Given the description of an element on the screen output the (x, y) to click on. 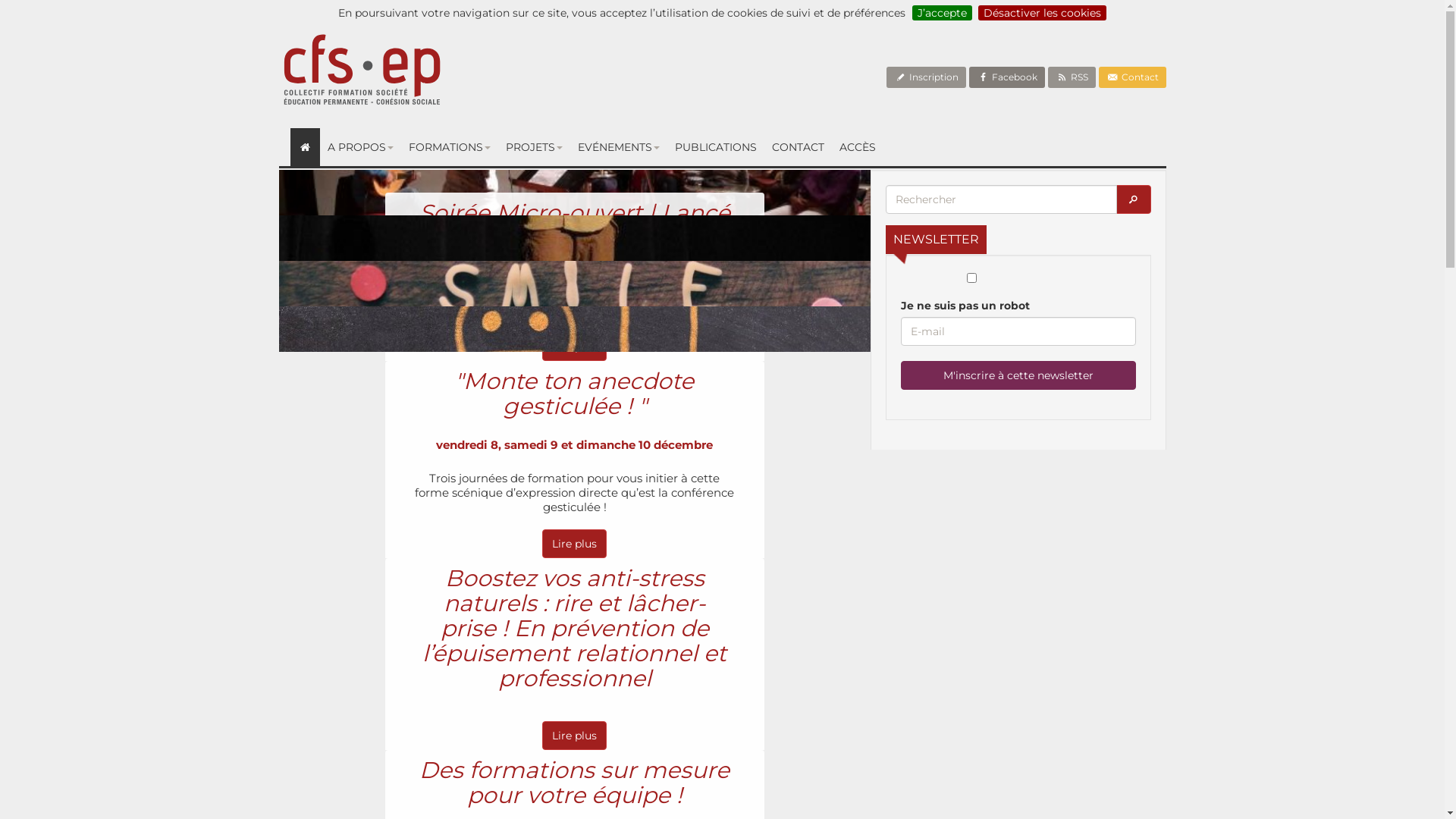
PUBLICATIONS Element type: text (715, 147)
Rechercher Element type: hover (1133, 199)
CONTACT Element type: text (797, 147)
Lire plus Element type: text (574, 346)
Lire plus Element type: text (574, 543)
PROJETS Element type: text (534, 147)
FORMATIONS Element type: text (449, 147)
Inscription Element type: text (926, 76)
RSS Element type: text (1071, 76)
A PROPOS Element type: text (360, 147)
Contact Element type: text (1132, 76)
Lire plus Element type: text (574, 735)
Facebook Element type: text (1006, 76)
